Given the description of an element on the screen output the (x, y) to click on. 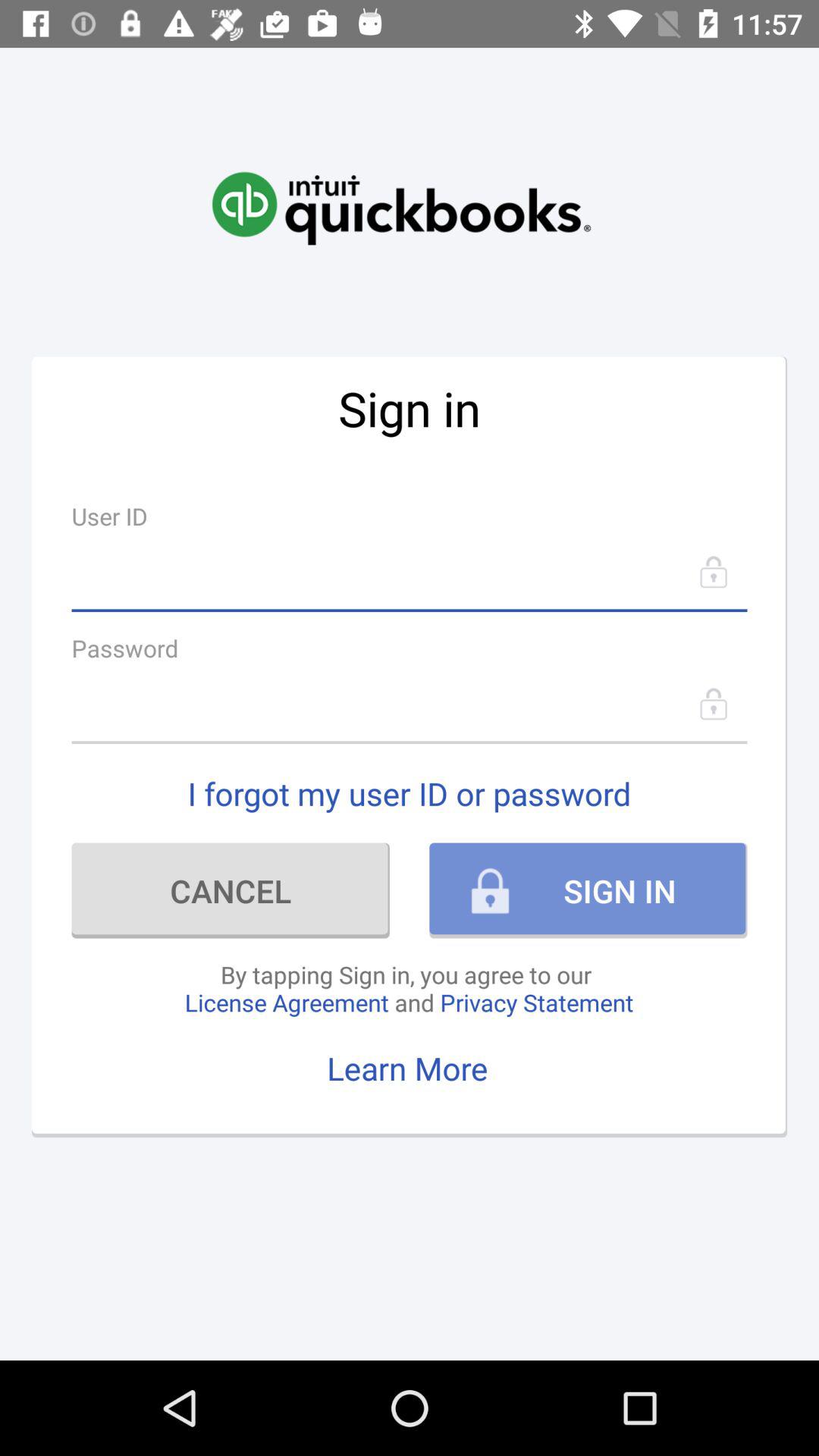
press icon above sign in (401, 191)
